Given the description of an element on the screen output the (x, y) to click on. 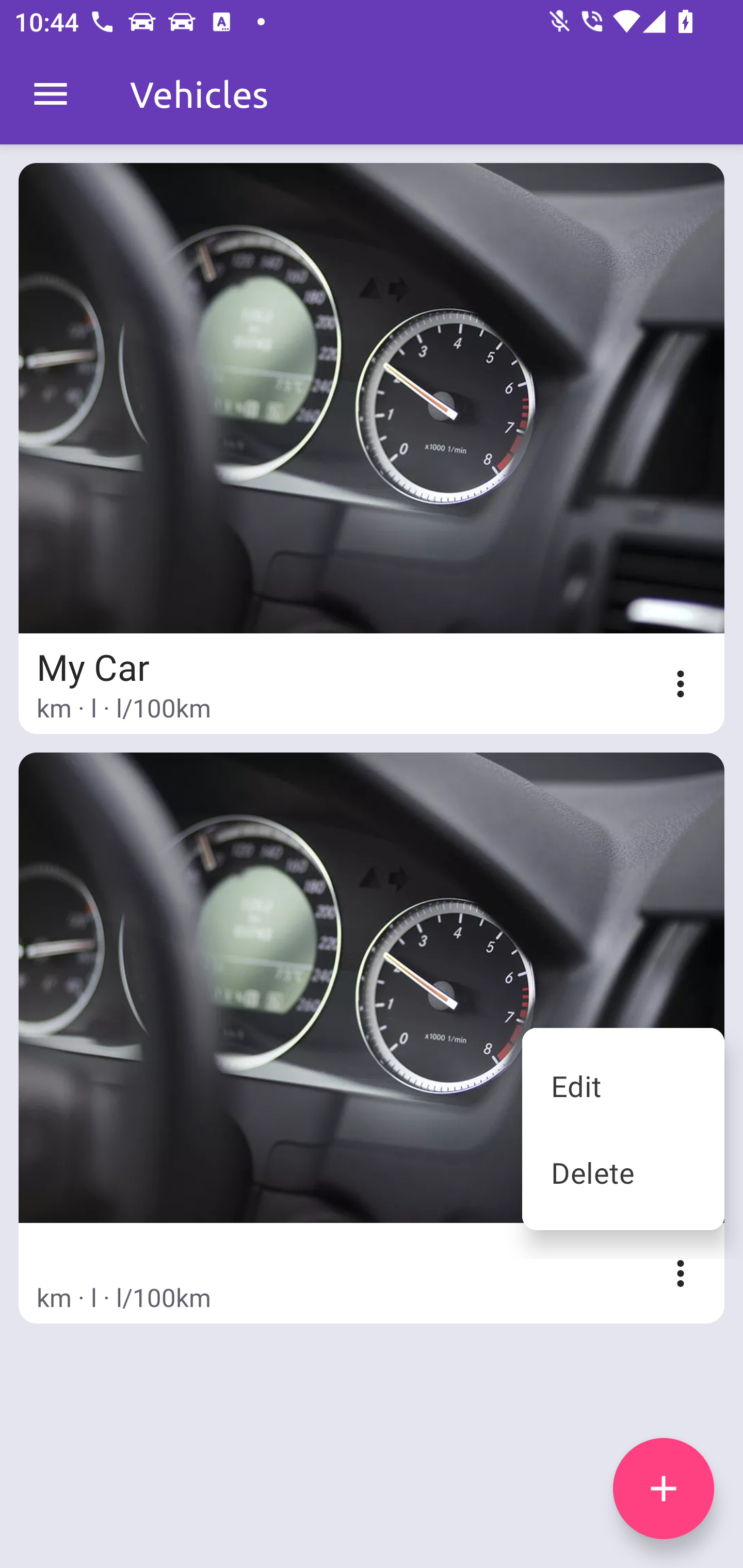
Edit (623, 1085)
Delete (623, 1171)
